Given the description of an element on the screen output the (x, y) to click on. 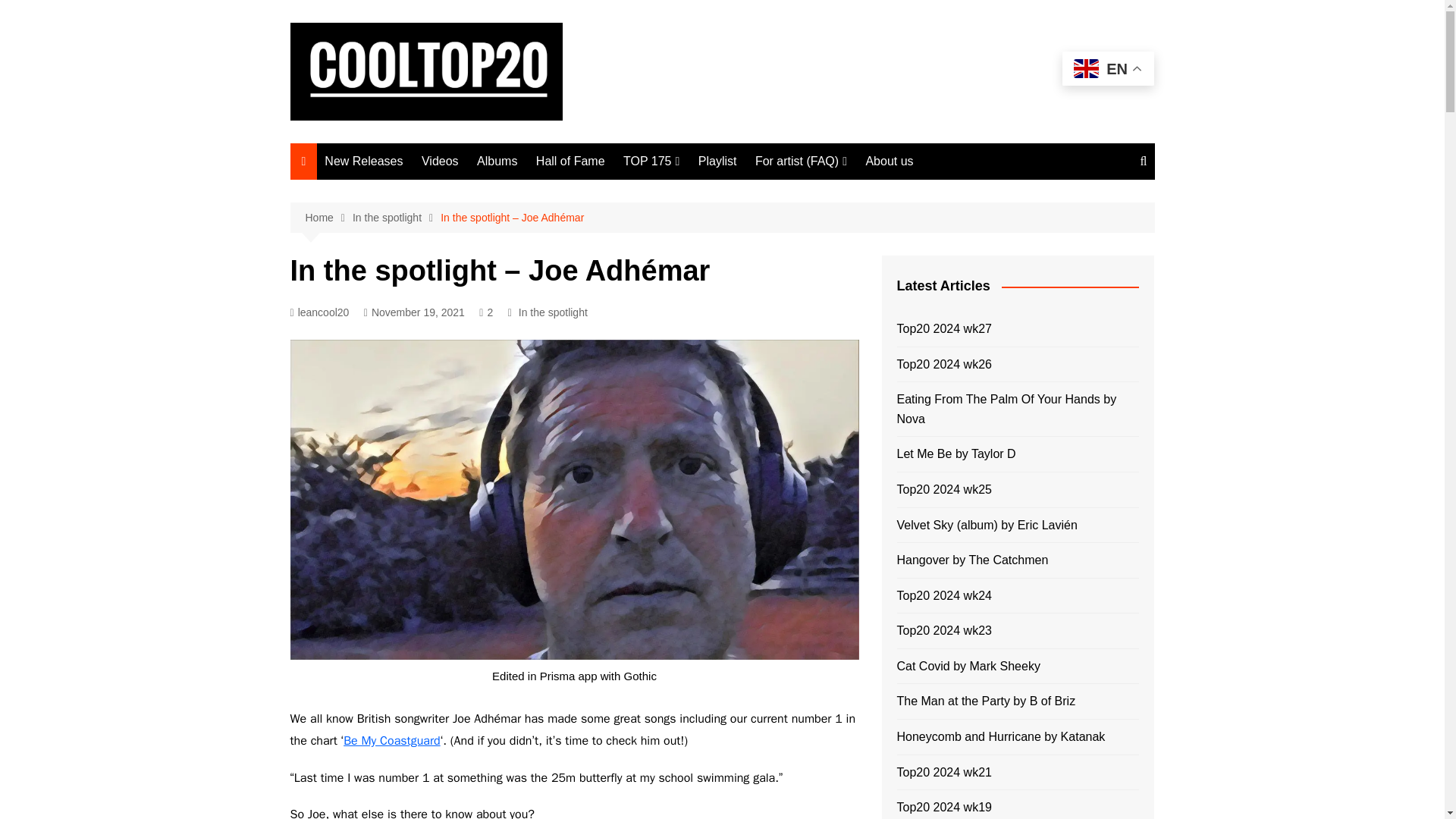
Playlist (717, 161)
About us (888, 161)
Videos (439, 161)
Hall of Fame (570, 161)
New Releases (363, 161)
Home (328, 217)
Albums (496, 161)
TOP 175 (651, 161)
In the spotlight (396, 217)
